Given the description of an element on the screen output the (x, y) to click on. 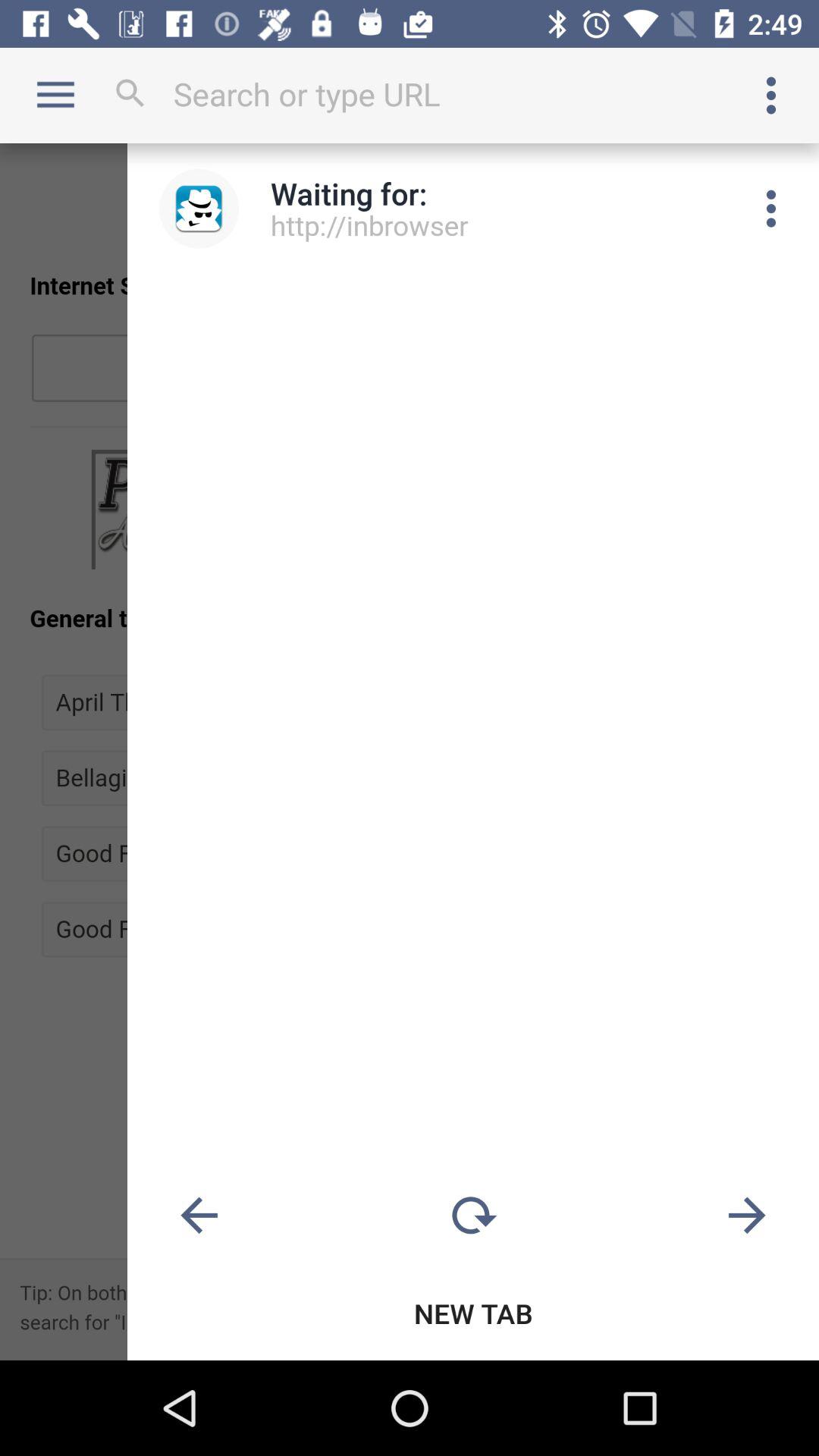
turn on the icon next to the http://inbrowser (771, 208)
